Given the description of an element on the screen output the (x, y) to click on. 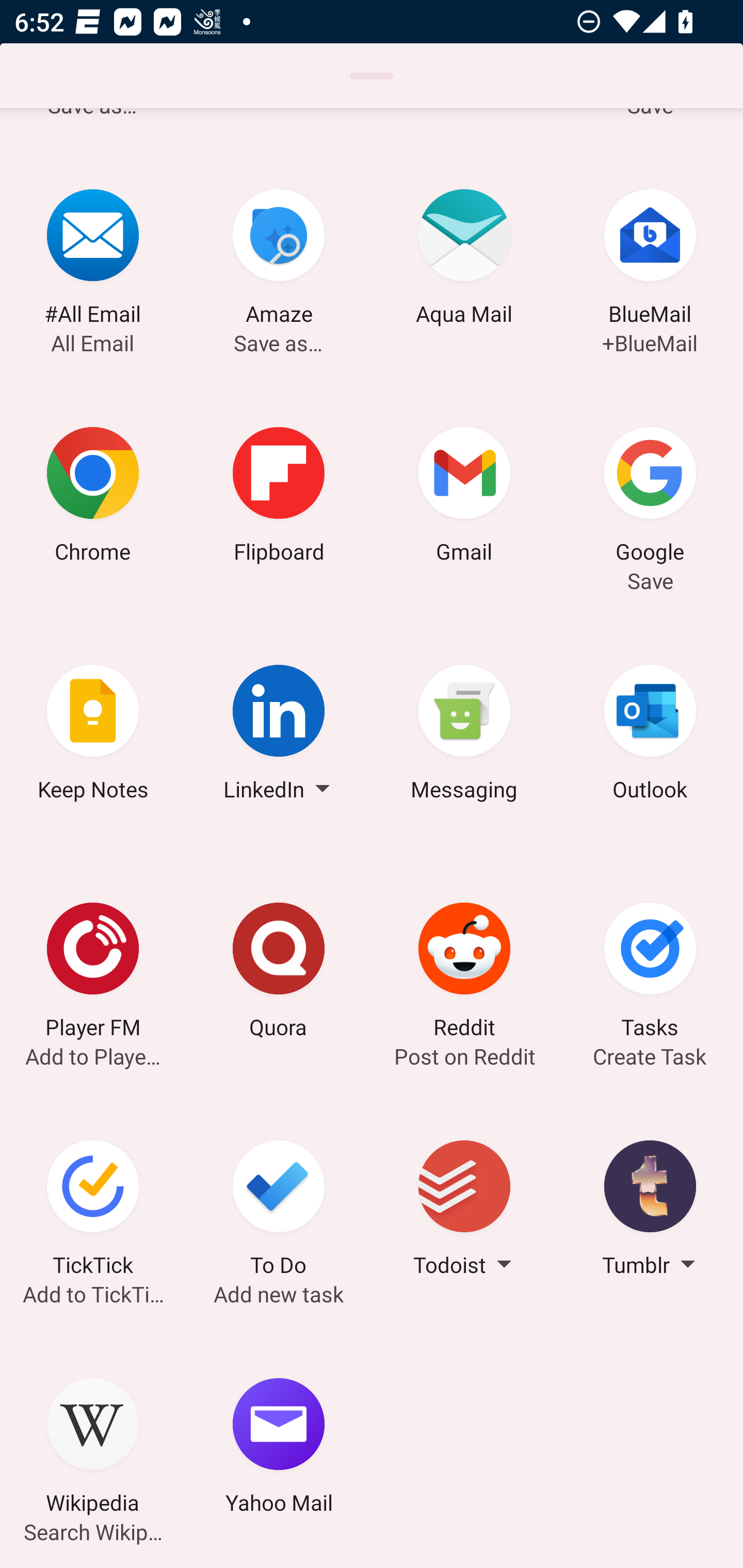
#All Email All Email (92, 260)
Amaze Save as… (278, 260)
Aqua Mail (464, 260)
BlueMail +BlueMail (650, 260)
Chrome (92, 497)
Flipboard (278, 497)
Gmail (464, 497)
Google Save (650, 497)
Keep Notes (92, 735)
LinkedIn (278, 735)
Messaging (464, 735)
Outlook (650, 735)
Player FM Add to Player FM (92, 973)
Quora (278, 973)
Reddit Post on Reddit (464, 973)
Tasks Create Task (650, 973)
TickTick Add to TickTick (92, 1210)
To Do Add new task (278, 1210)
Todoist (464, 1210)
Tumblr (650, 1210)
Wikipedia Search Wikipedia (92, 1448)
Yahoo Mail (278, 1448)
